Given the description of an element on the screen output the (x, y) to click on. 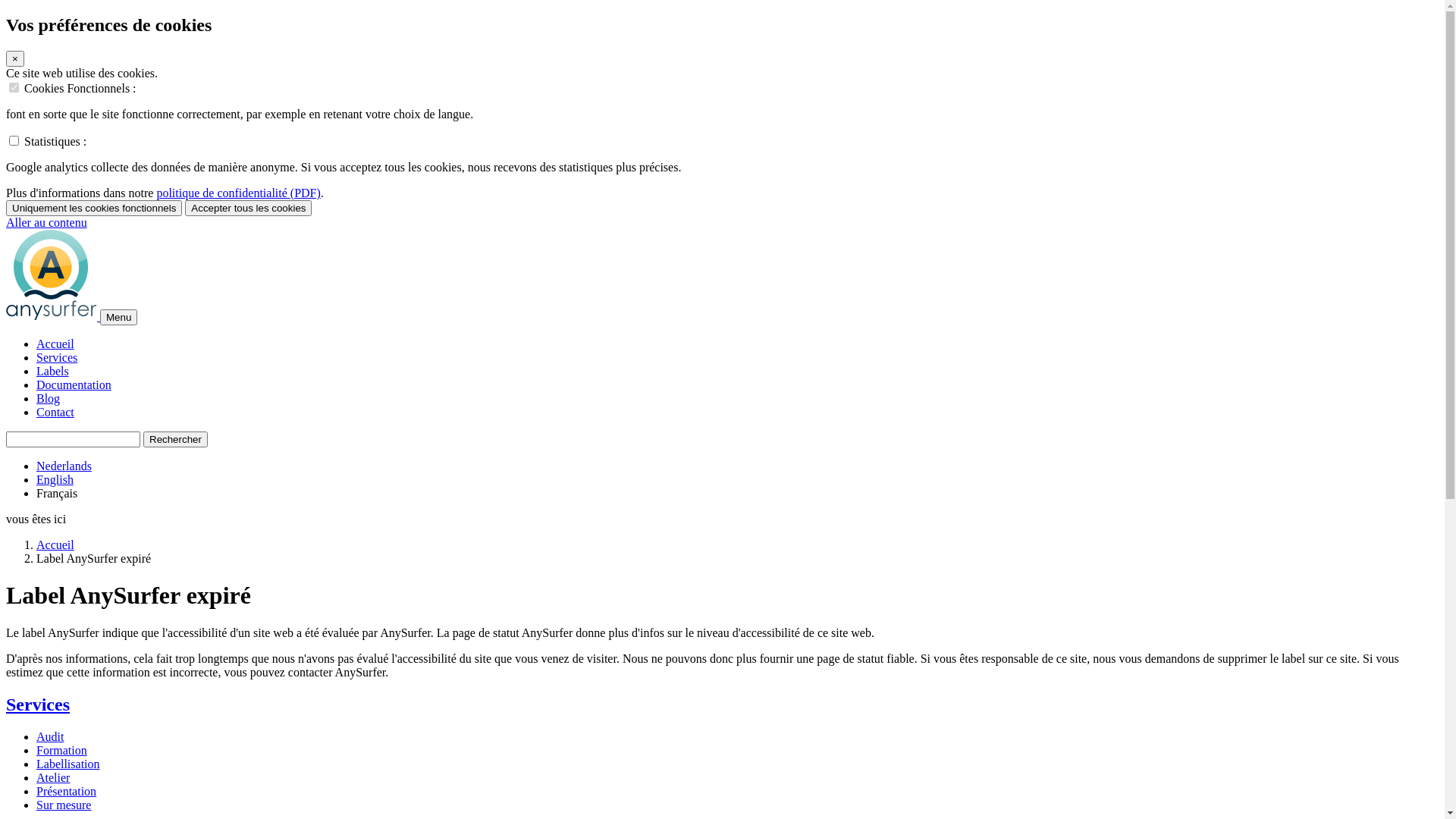
Aller au contenu Element type: text (46, 222)
Atelier Element type: text (52, 776)
Audit Element type: text (49, 735)
Services Element type: text (37, 704)
Uniquement les cookies fonctionnels Element type: text (94, 208)
Blog Element type: text (47, 398)
Accueil Element type: text (55, 343)
Sur mesure Element type: text (63, 803)
Formation Element type: text (61, 749)
Labellisation Element type: text (68, 762)
English Element type: text (54, 479)
Accueil Element type: text (55, 544)
Contact Element type: text (55, 411)
Documentation Element type: text (73, 384)
Services Element type: text (56, 357)
Accepter tous les cookies Element type: text (248, 208)
Menu Element type: text (118, 317)
Labels Element type: text (52, 370)
Rechercher Element type: text (175, 439)
Nederlands Element type: text (63, 465)
